Given the description of an element on the screen output the (x, y) to click on. 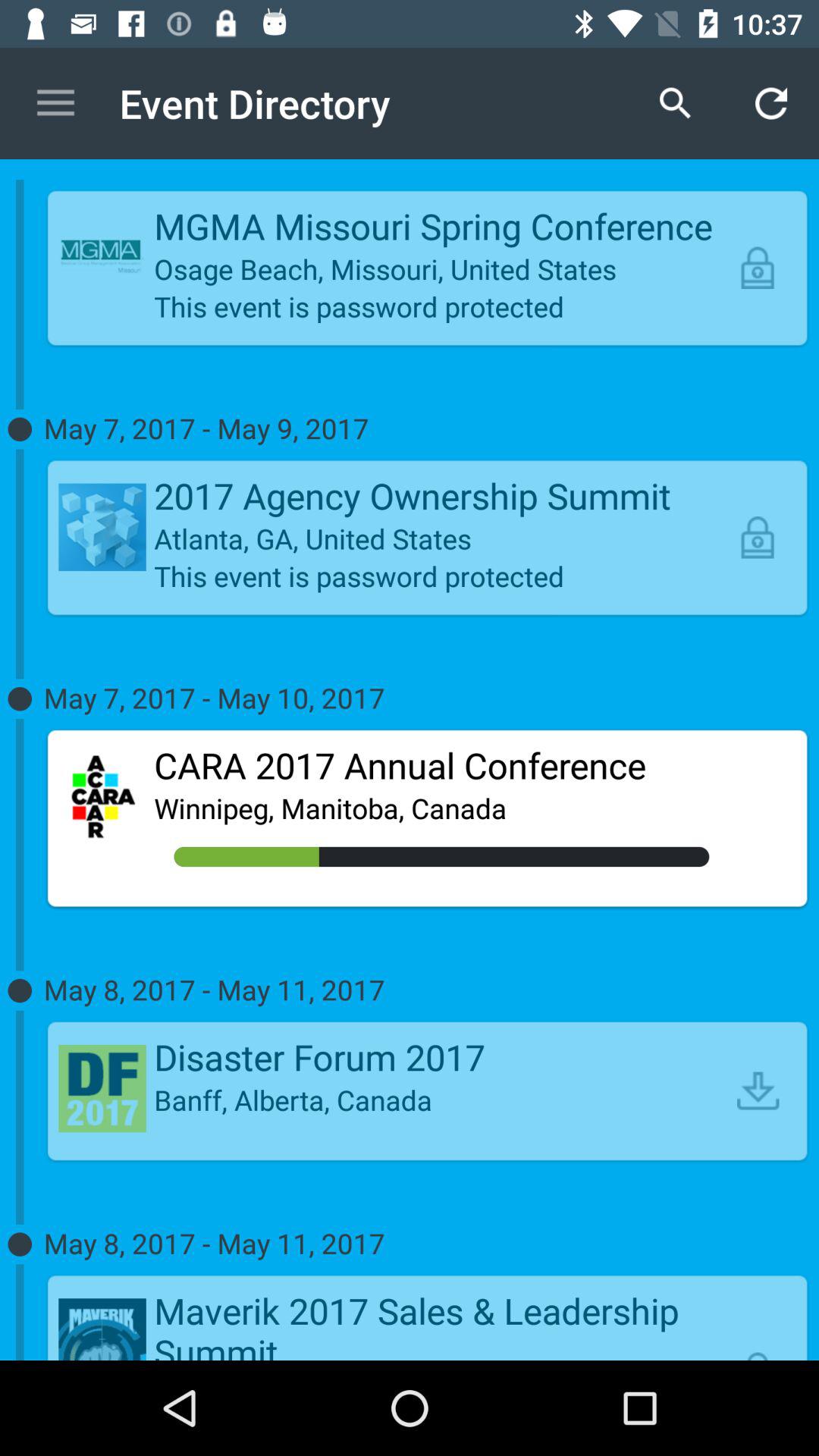
choose osage beach missouri (441, 268)
